Given the description of an element on the screen output the (x, y) to click on. 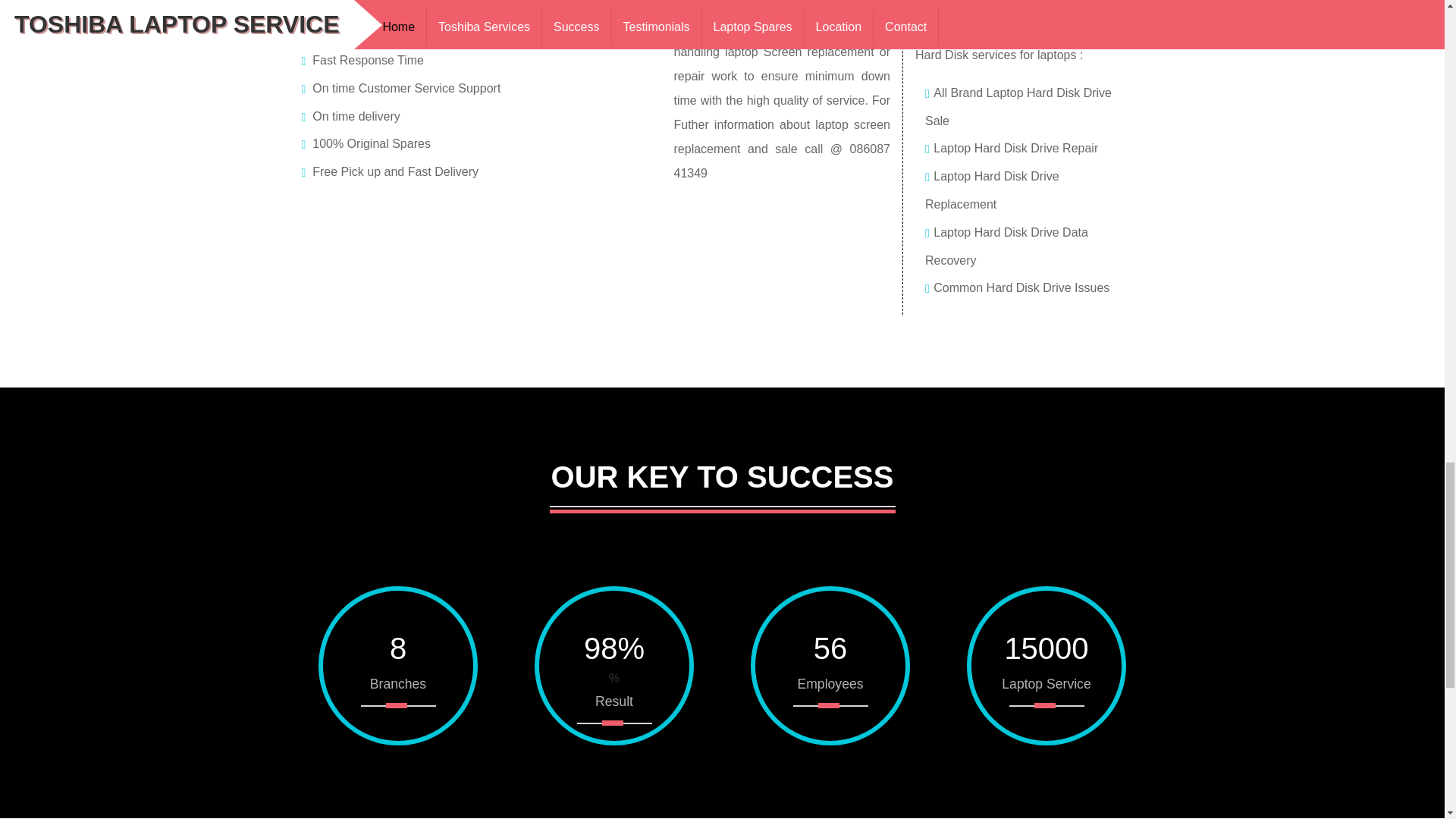
56 (830, 648)
8 (398, 648)
15000 (1046, 648)
